Given the description of an element on the screen output the (x, y) to click on. 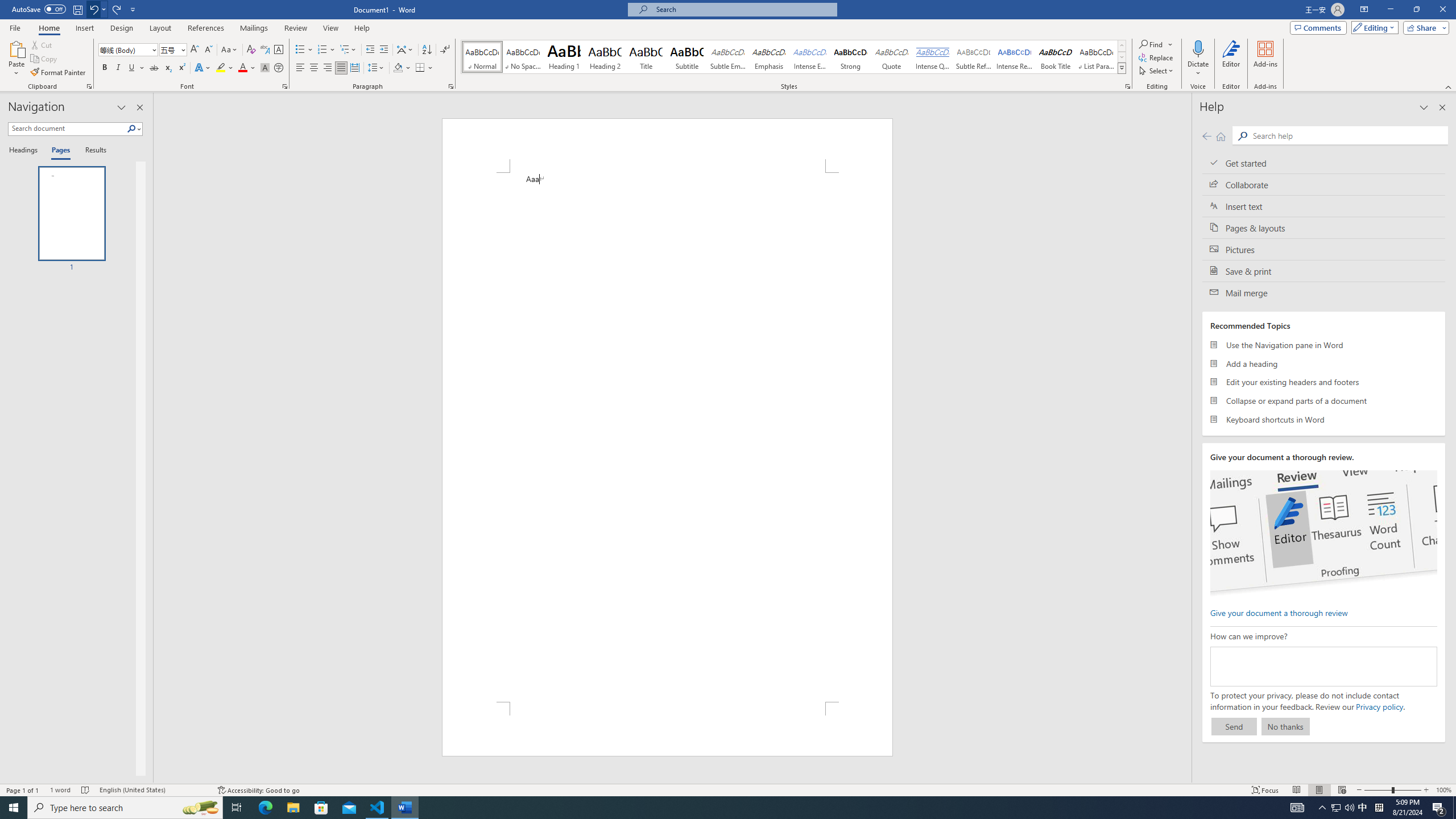
Collapse or expand parts of a document (1323, 400)
Line and Paragraph Spacing (376, 67)
Italic (118, 67)
Keyboard shortcuts in Word (1323, 419)
editor ui screenshot (1323, 533)
